Given the description of an element on the screen output the (x, y) to click on. 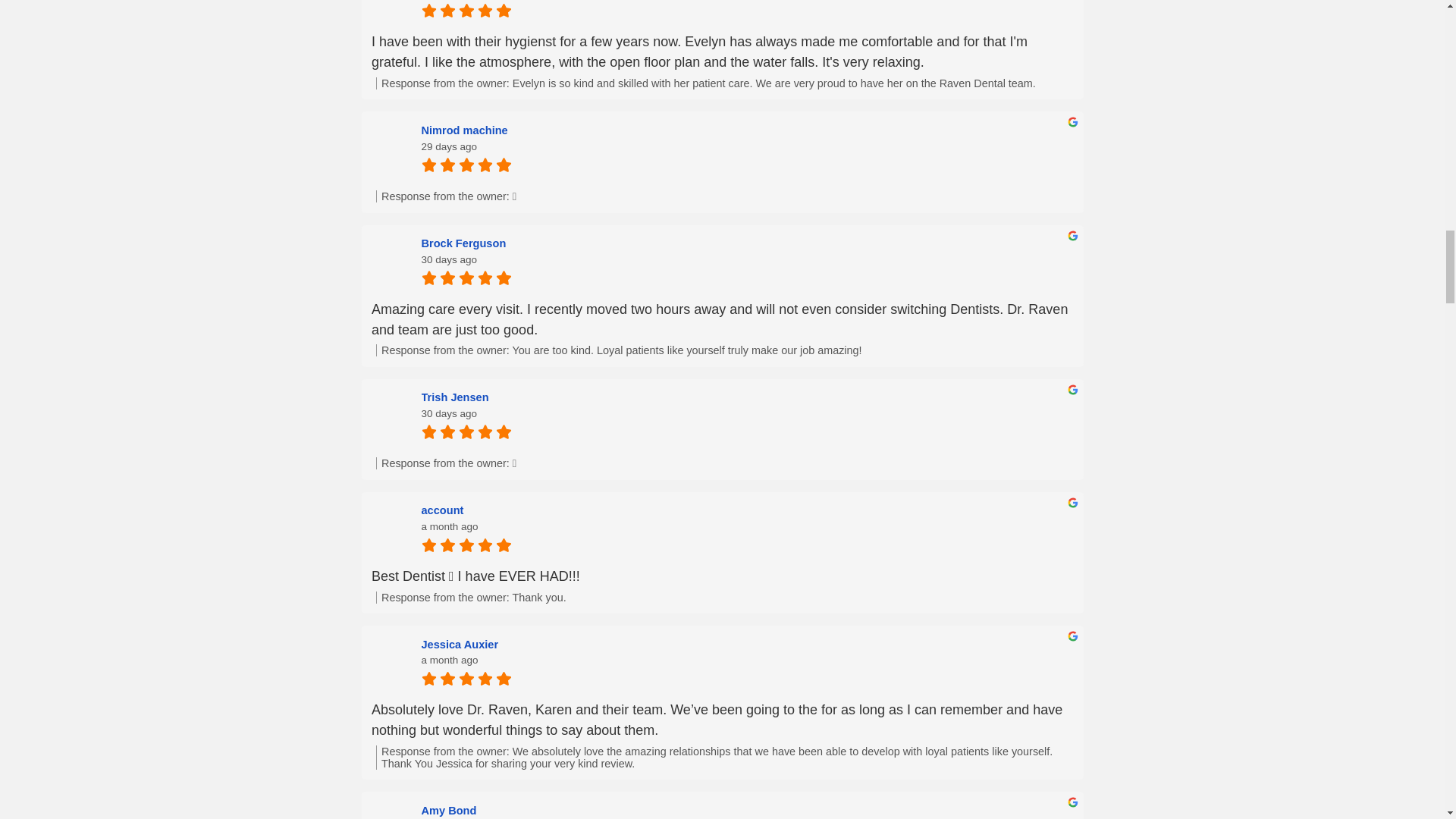
Response from the owner: Thank you. (724, 597)
